Given the description of an element on the screen output the (x, y) to click on. 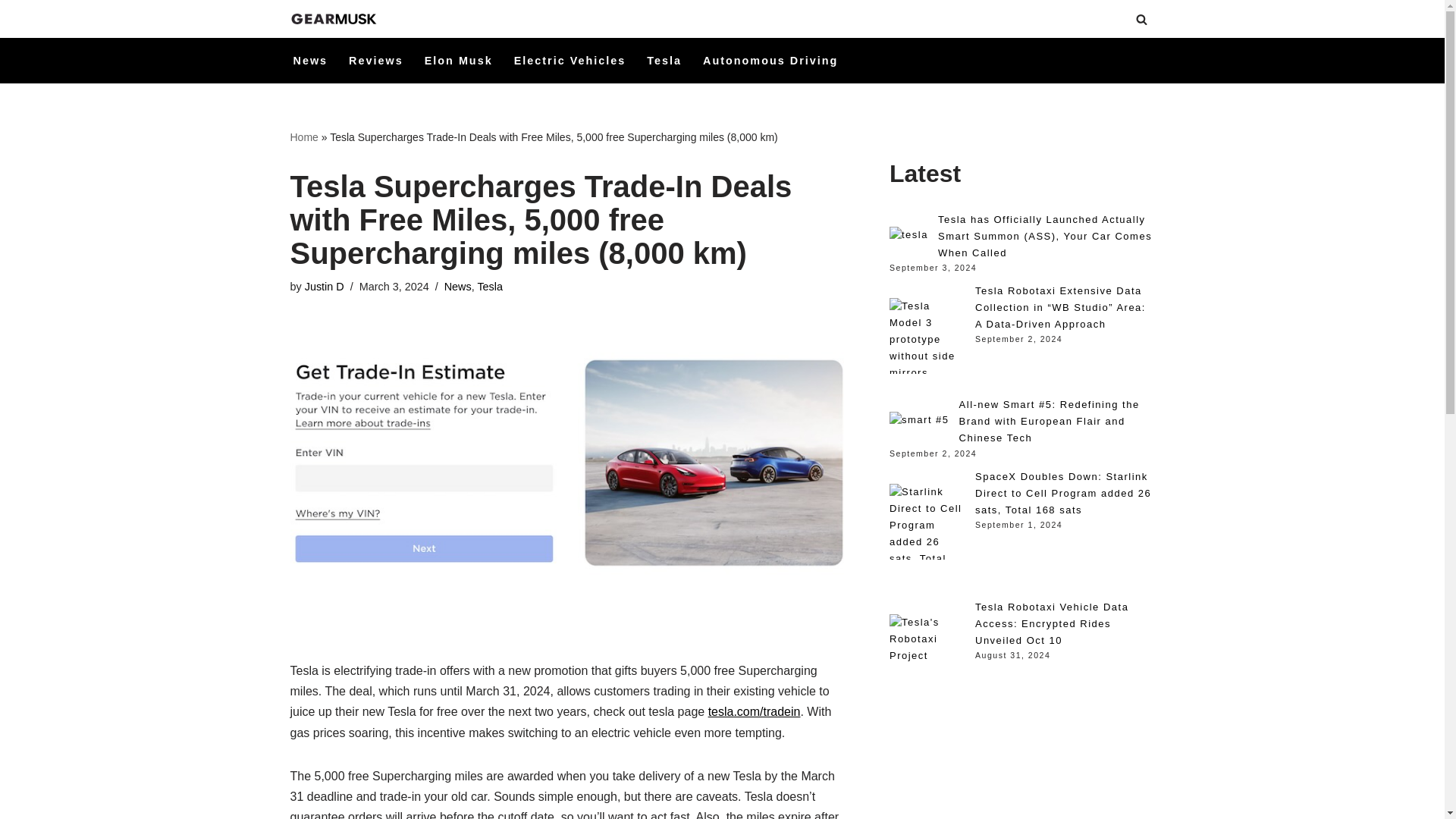
News (309, 60)
Gear Musk (334, 18)
Skip to content (11, 31)
Autonomous Driving (770, 60)
Home (303, 137)
Tesla (663, 60)
Justin D (323, 286)
Reviews (376, 60)
Electric Vehicles (569, 60)
Elon Musk (459, 60)
